Given the description of an element on the screen output the (x, y) to click on. 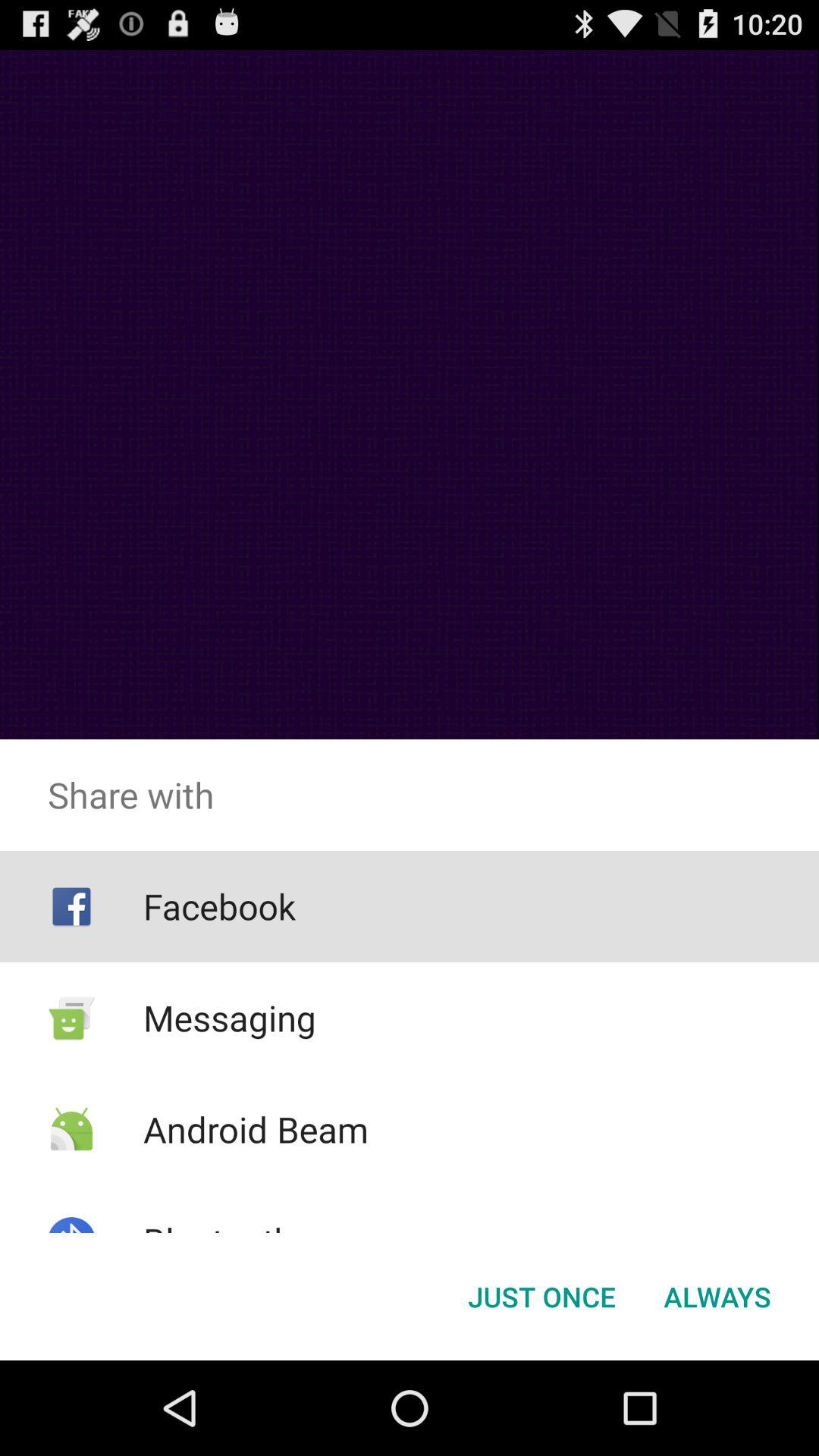
open the app above messaging item (219, 906)
